Given the description of an element on the screen output the (x, y) to click on. 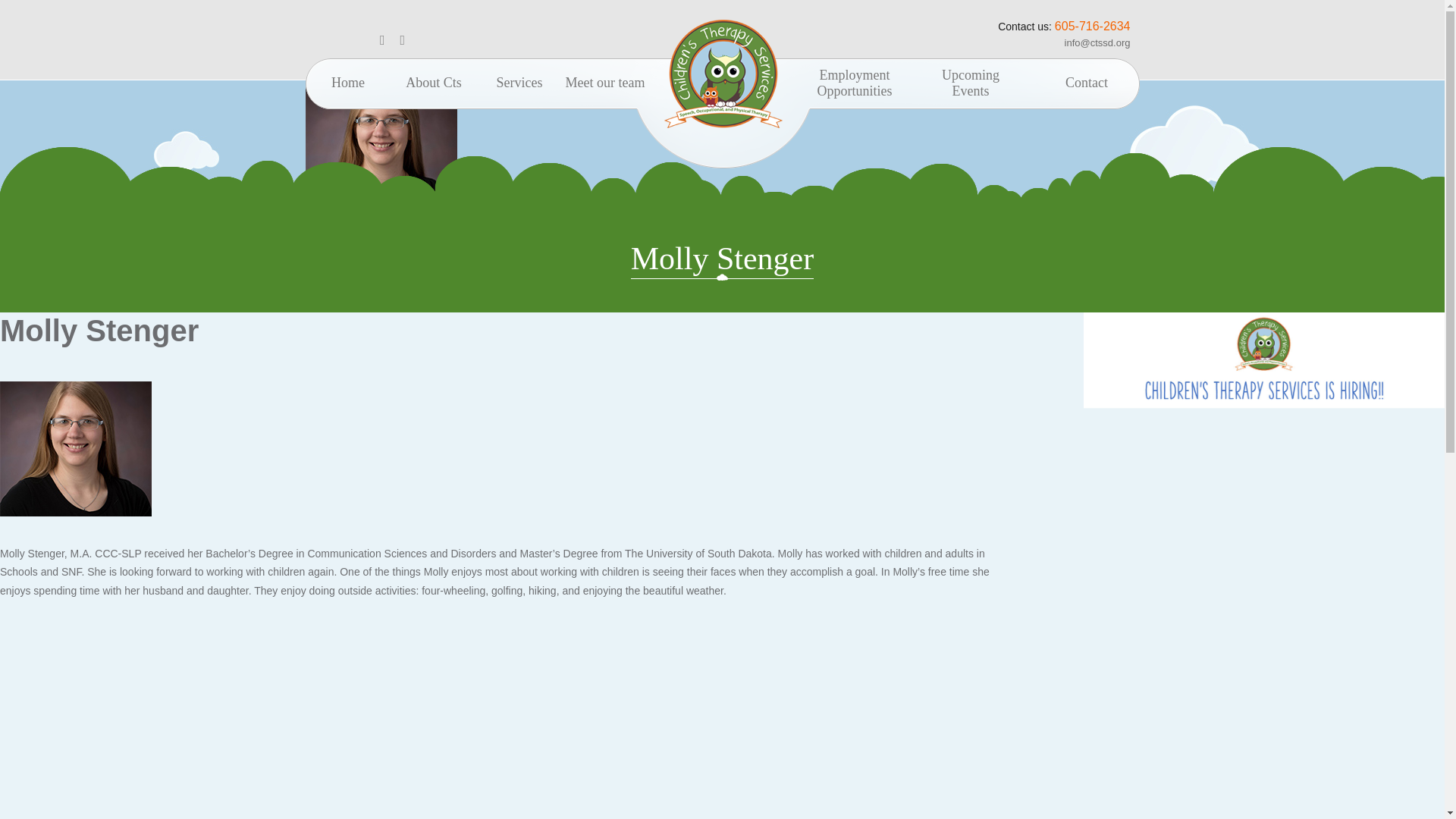
About Cts (434, 82)
Contact (1085, 82)
Meet our team (605, 82)
Services (519, 82)
Molly Stenger 2 (75, 448)
Upcoming Events (970, 82)
Molly Stenger 1 (853, 82)
Home (380, 147)
